Given the description of an element on the screen output the (x, y) to click on. 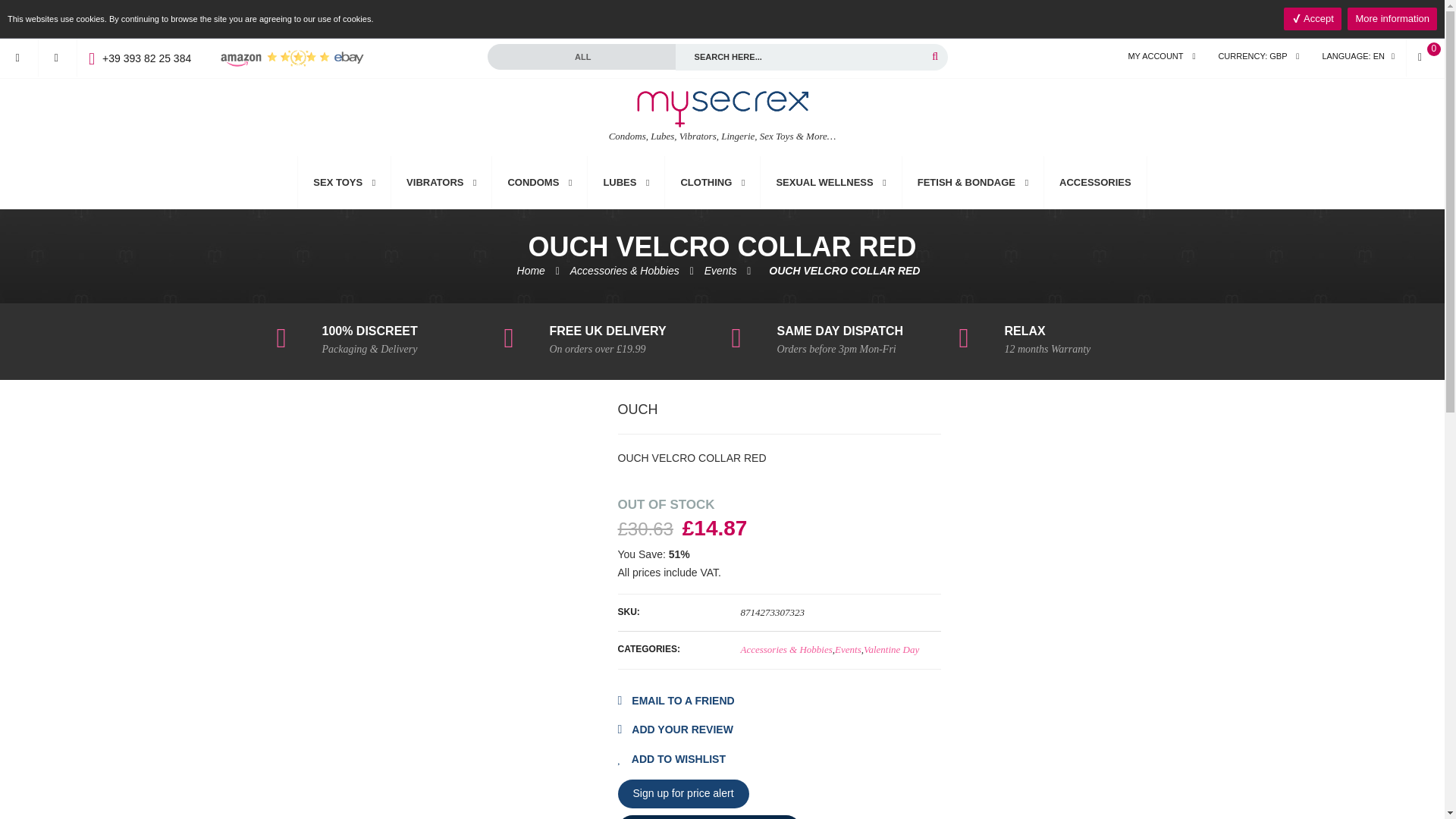
Go to Home Page (530, 270)
More information (1392, 18)
Accept (1312, 18)
Sign up for price alert (682, 793)
Search here... (811, 57)
VIBRATORS (441, 182)
MY ACCOUNT (1161, 57)
SEX TOYS (344, 182)
OUCH VELCRO COLLAR RED (844, 270)
